Given the description of an element on the screen output the (x, y) to click on. 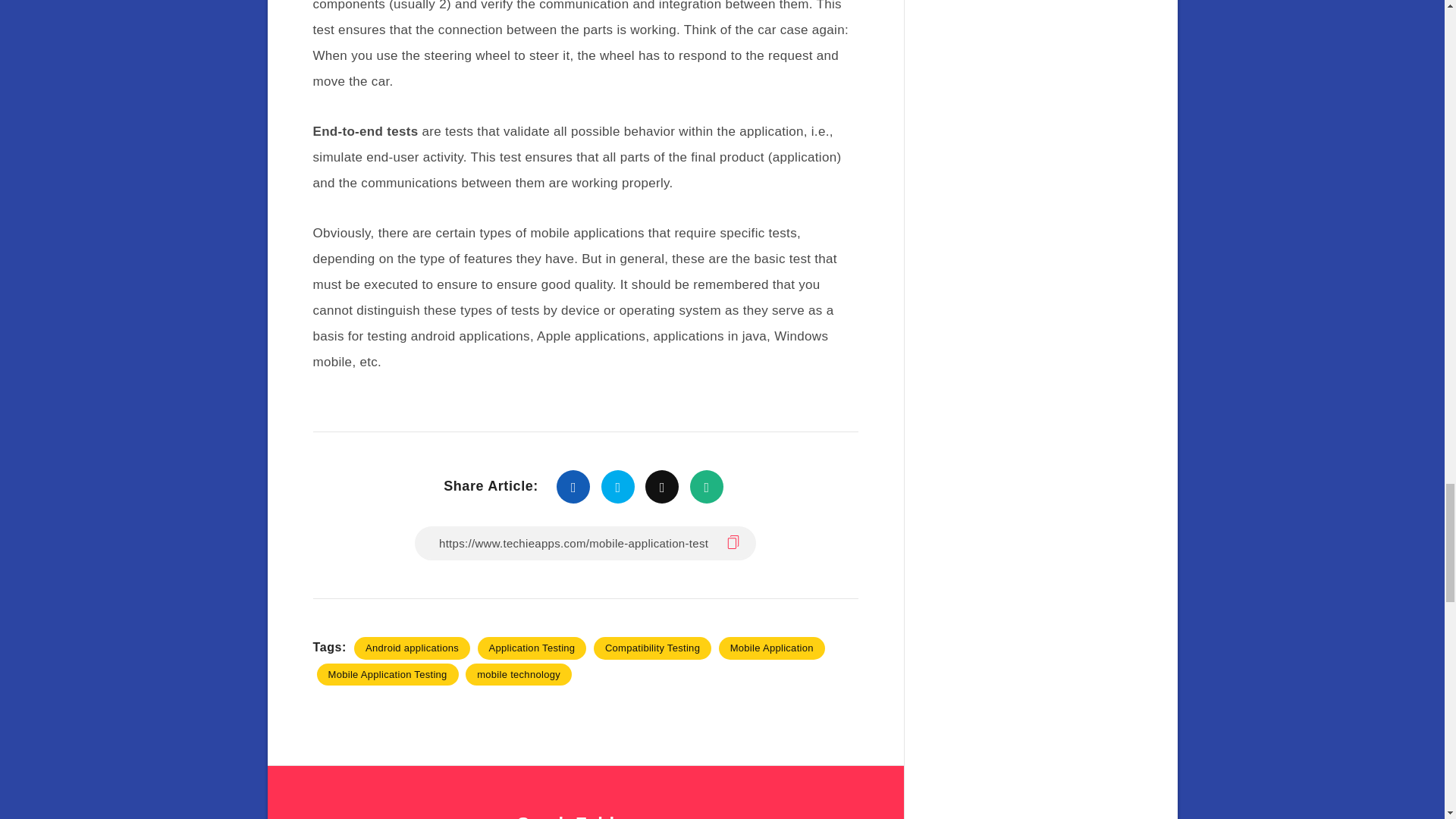
Android applications (411, 648)
Application Testing (531, 648)
Compatibility Testing (652, 648)
Mobile Application (772, 648)
